Given the description of an element on the screen output the (x, y) to click on. 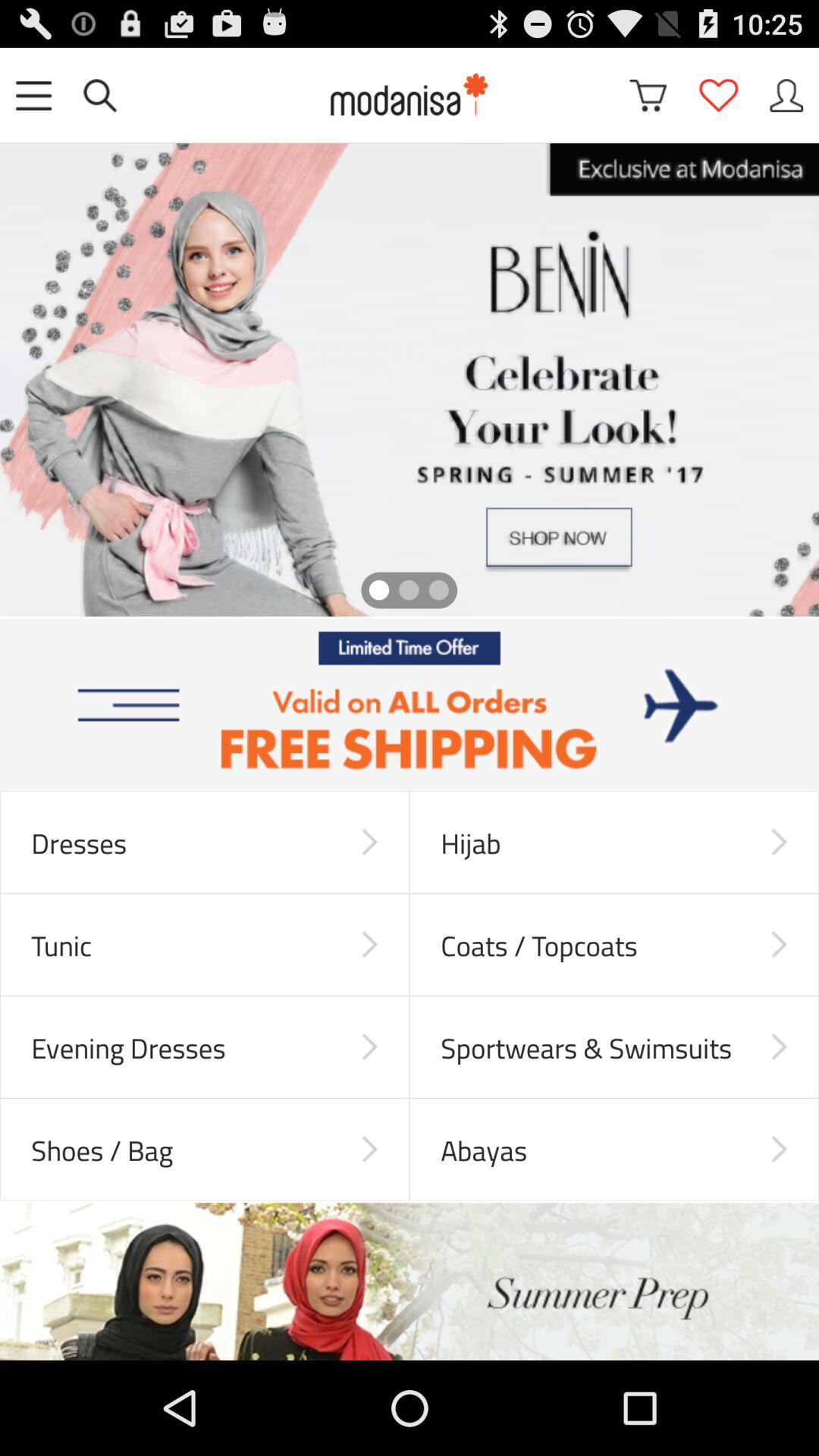
click limited time offer (409, 704)
